Given the description of an element on the screen output the (x, y) to click on. 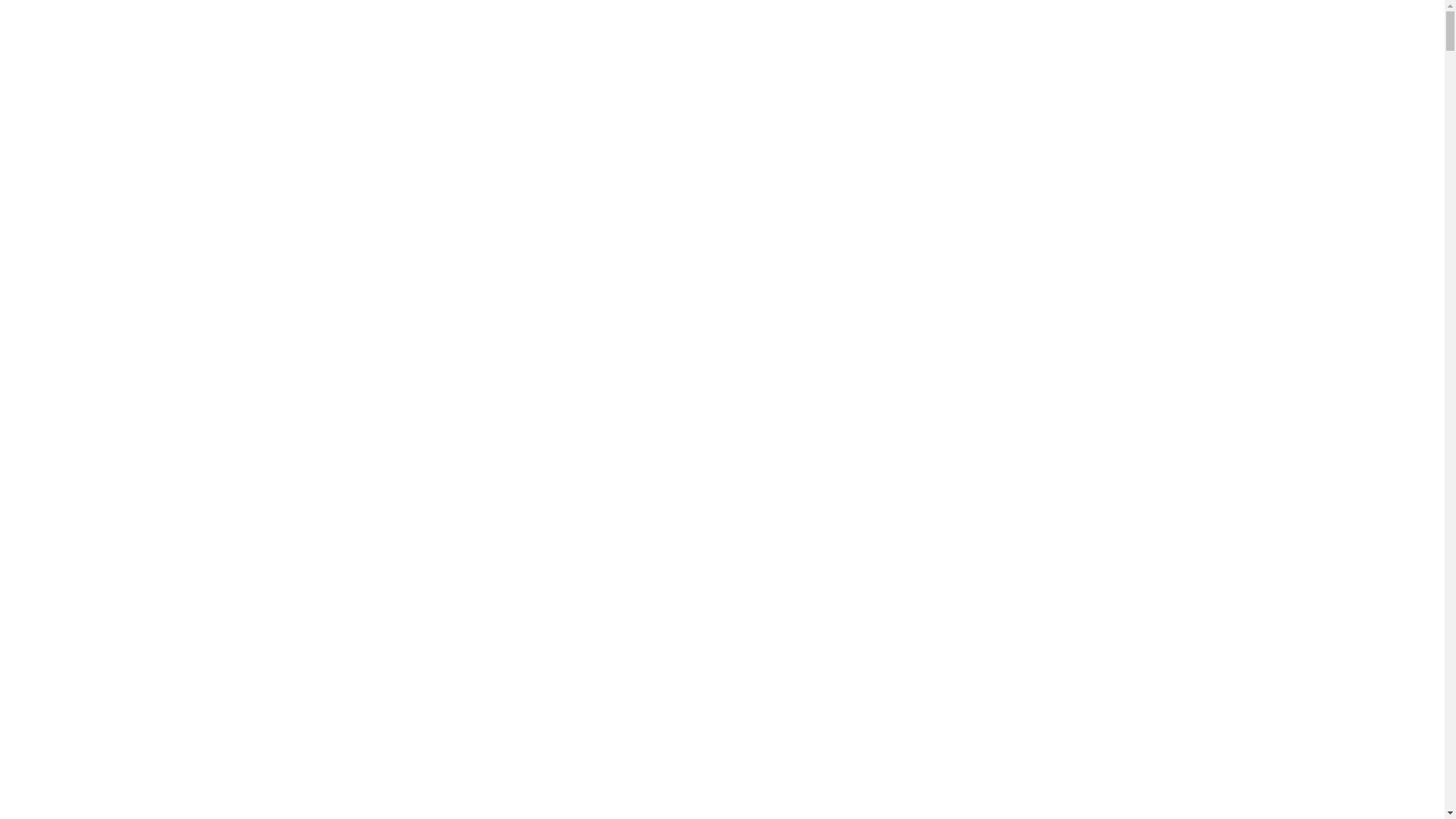
Member Resources Element type: text (53, 244)
Member Publications Element type: text (722, 749)
Events Element type: text (22, 285)
Home Element type: text (20, 162)
Member Resources Element type: text (722, 736)
Member News Element type: text (42, 230)
Member Login Element type: text (42, 366)
Member Login Element type: text (42, 394)
Folder: Members Element type: text (722, 654)
Join Today! Element type: text (34, 353)
Member Home Page Element type: text (56, 448)
Member Profiles Element type: text (722, 695)
Member Profiles Element type: text (46, 462)
Home Element type: text (20, 421)
Community Element type: text (34, 312)
Member Events Element type: text (44, 216)
Back Element type: text (18, 667)
Member Resources Element type: text (53, 503)
Member Publications Element type: text (57, 257)
Member Home Page Element type: text (722, 681)
Skip to Content Element type: text (43, 134)
Community Element type: text (34, 571)
0 Element type: text (722, 114)
Join Today! Element type: text (34, 612)
Member News Element type: text (42, 489)
Articles Element type: text (25, 558)
Events Element type: text (722, 777)
Articles Element type: text (722, 790)
Member Help Element type: text (39, 271)
Member Home Page Element type: text (56, 189)
About Element type: text (21, 585)
Member Events Element type: text (44, 476)
Member Help Element type: text (39, 530)
Member Help Element type: text (722, 763)
Home Element type: text (722, 640)
Member News Element type: text (722, 722)
Members Element type: text (28, 435)
Events Element type: text (22, 544)
Community Element type: text (722, 804)
Articles Element type: text (25, 298)
Member Profiles Element type: text (46, 203)
Contact Us Element type: text (33, 599)
Member Publications Element type: text (57, 517)
Member Events Element type: text (722, 708)
Contact Us Element type: text (33, 339)
About Element type: text (21, 326)
Members Element type: text (28, 175)
